Given the description of an element on the screen output the (x, y) to click on. 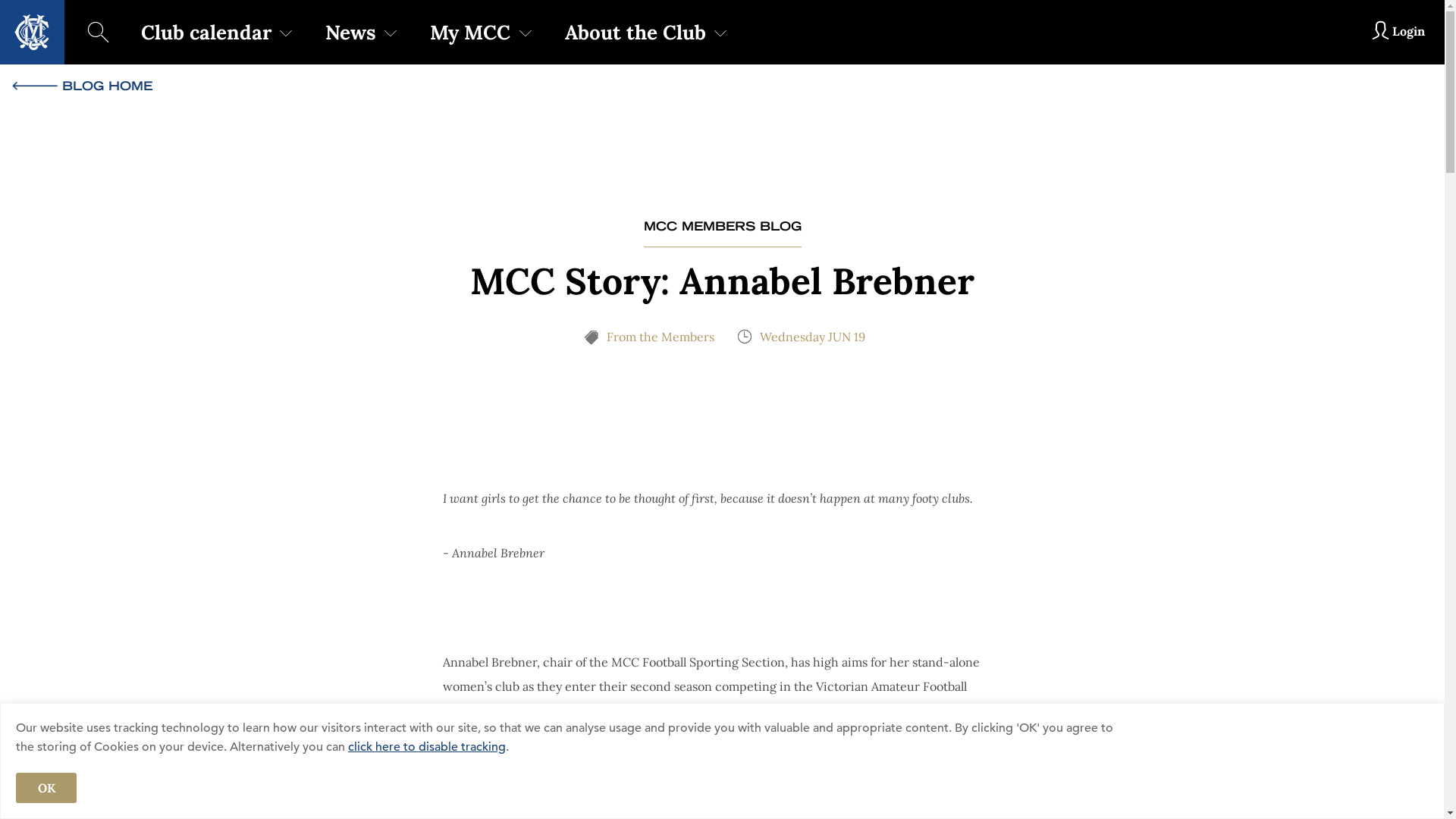
Balcony Banter Element type: text (423, 30)
Login
show/hide login options Element type: text (1396, 32)
show sub navigation Element type: text (390, 31)
News Element type: text (357, 32)
About the Club Element type: text (642, 32)
Club calendar Element type: text (213, 32)
Home Element type: hover (32, 32)
show sub navigation Element type: text (525, 31)
Club functions Element type: text (239, 40)
My MCC Element type: text (476, 32)
BLOG HOME Element type: text (722, 85)
Grand Final ballot Element type: text (528, 25)
show sub navigation Element type: text (285, 31)
show sub navigation Element type: text (720, 31)
click here to disable tracking Element type: text (426, 746)
